Given the description of an element on the screen output the (x, y) to click on. 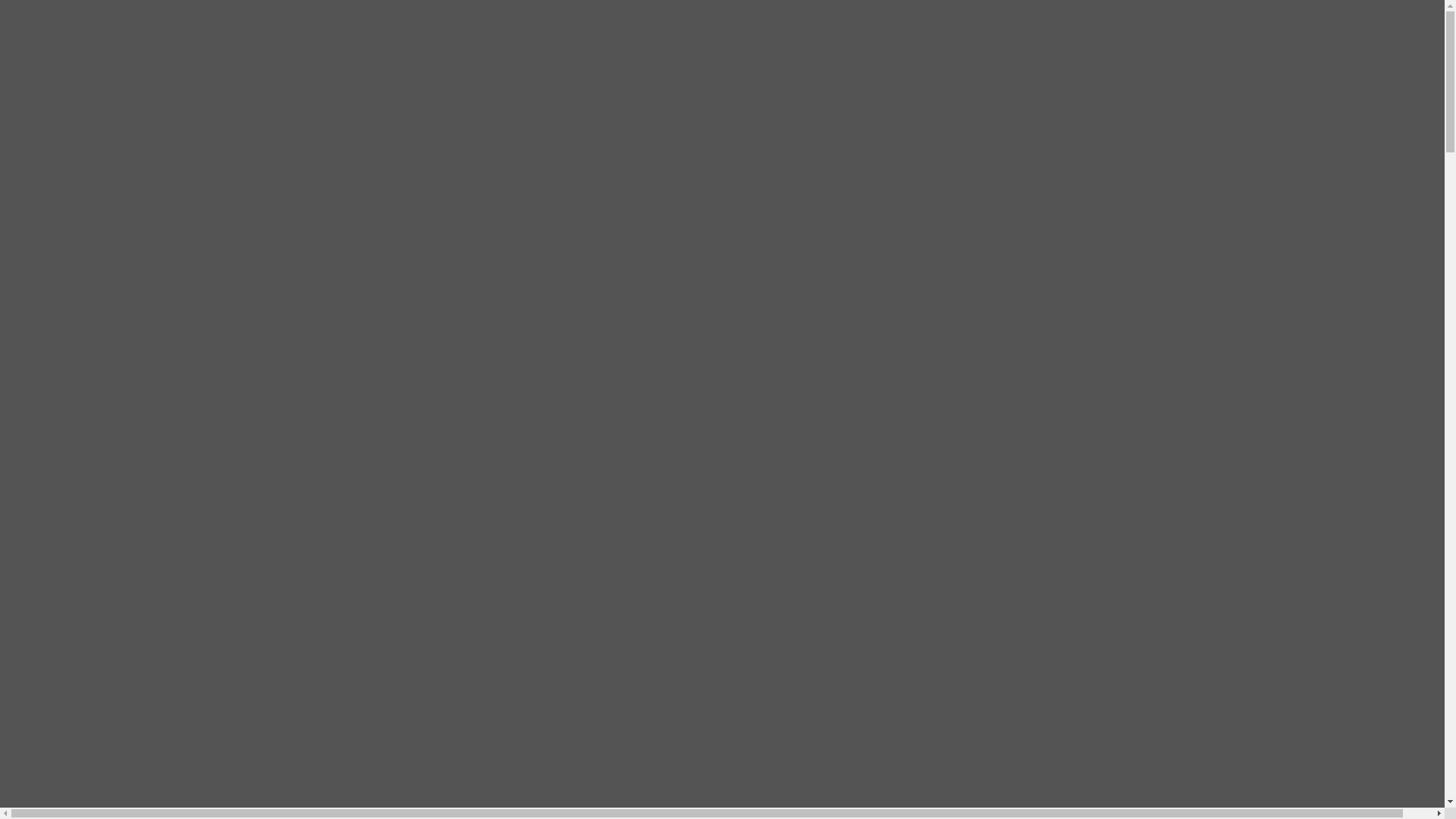
Dienstleistungen Element type: text (376, 137)
News Element type: text (191, 320)
031 311 44 55 Element type: text (134, 11)
Projekte Element type: text (358, 151)
Archify Element type: text (357, 123)
EN Element type: text (69, 416)
FR Element type: text (17, 416)
EN Element type: text (129, 25)
DE Element type: text (43, 416)
File-Transfer Element type: text (99, 38)
FR Element type: text (84, 25)
Dienstleistungen Element type: text (77, 456)
3D Visualisierung und CAD Dienstleistungen Schweiz Element type: hover (81, 107)
info@archify.ch Element type: text (231, 11)
Kontakt Element type: text (133, 320)
DE Element type: text (106, 25)
3D Visualisierung und CAD Dienstleistungen Schweiz Element type: hover (81, 384)
Visualisierung Element type: text (405, 256)
CAD Planung Element type: text (400, 213)
3D Visualisierung und CAD Dienstleistungen Schweiz Element type: hover (81, 61)
Archify Element type: text (55, 442)
